Given the description of an element on the screen output the (x, y) to click on. 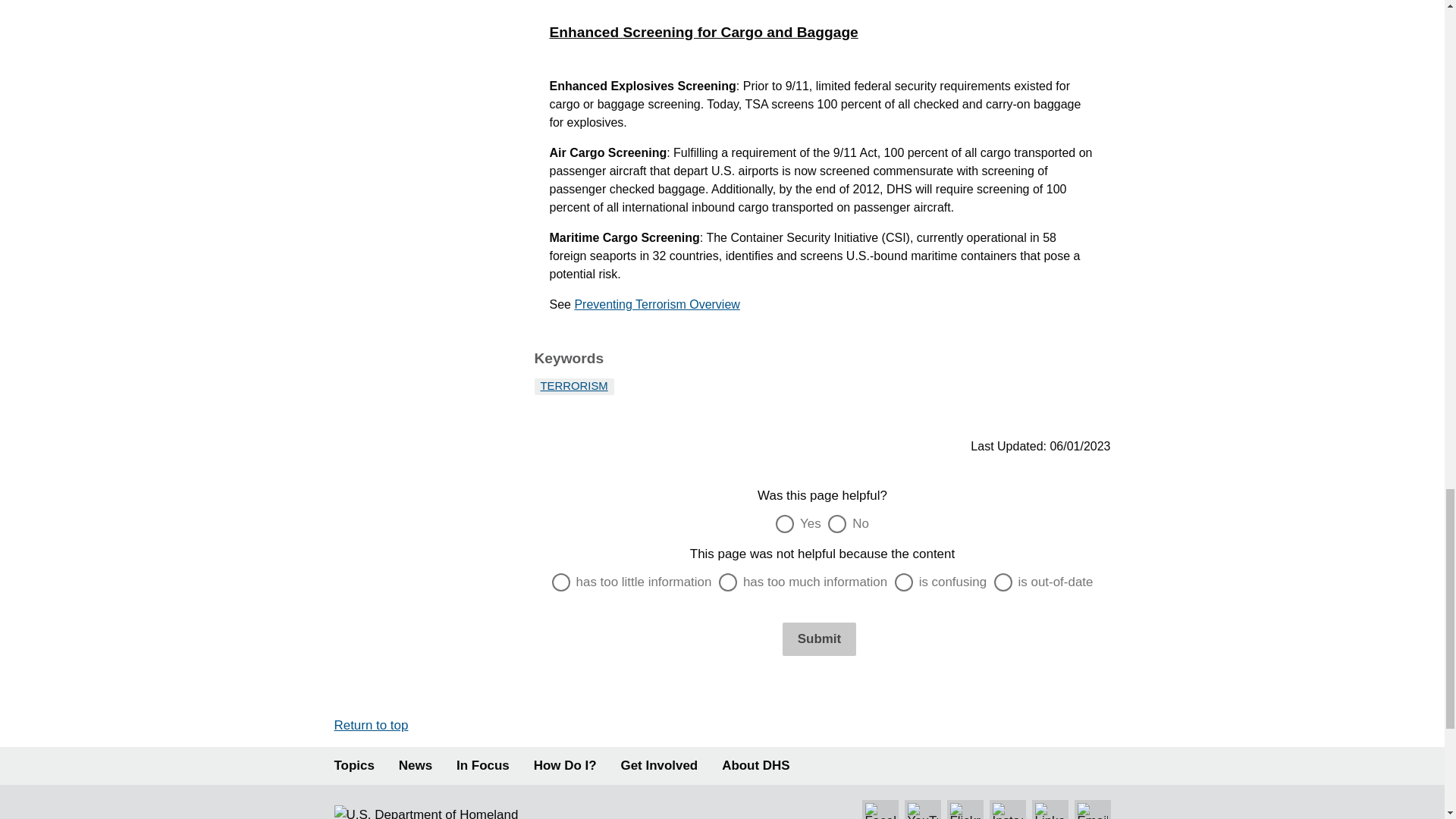
Get Involved (659, 765)
Submit (819, 639)
Topics (353, 765)
Enhanced Screening for Cargo and Baggage (821, 32)
Submit (819, 639)
